Given the description of an element on the screen output the (x, y) to click on. 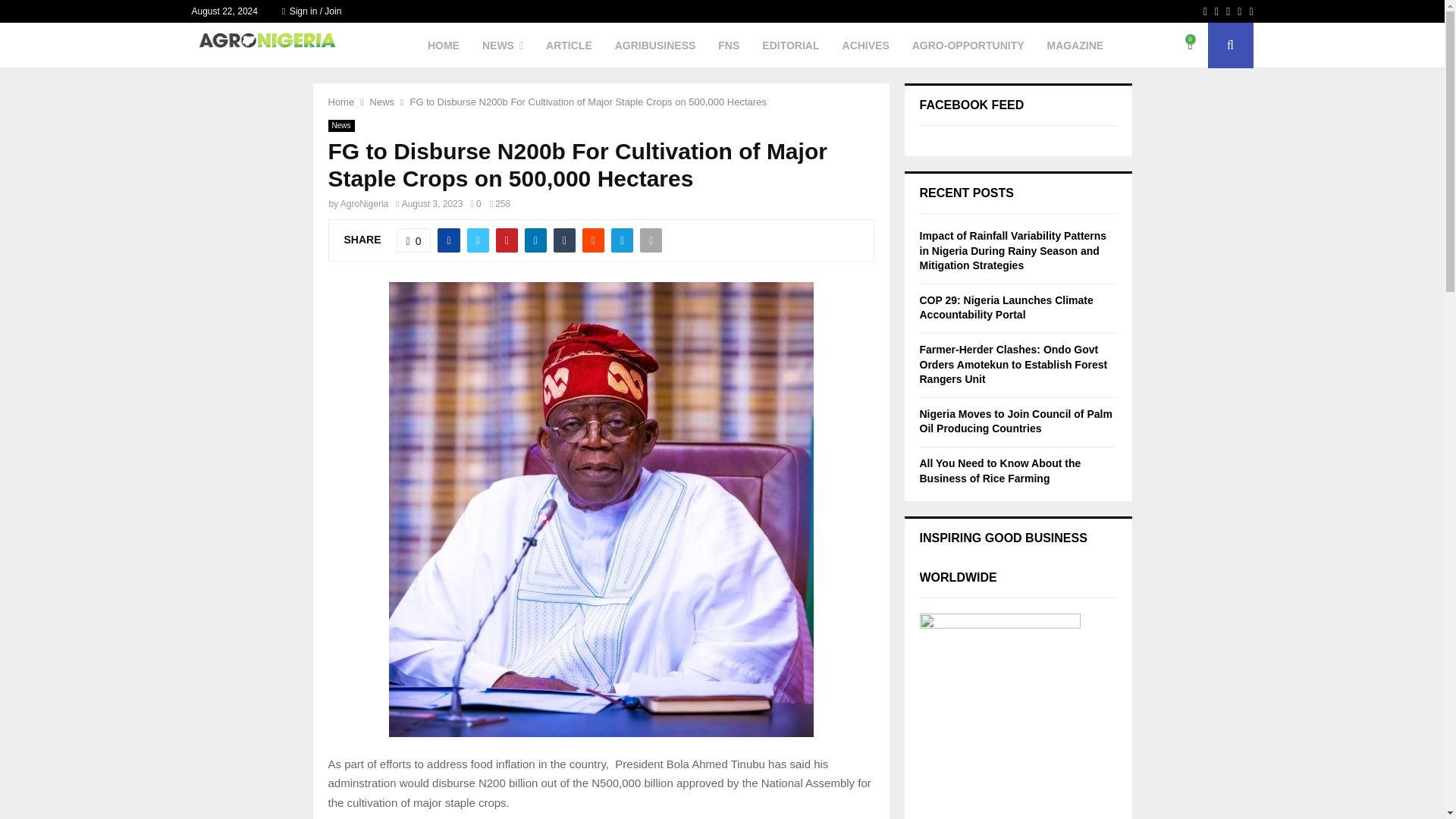
MAGAZINE (1074, 44)
Like (413, 240)
Sign up new account (722, 415)
News (340, 125)
ACHIVES (866, 44)
NEWS (501, 44)
Home (340, 101)
AgroNigeria (364, 204)
AGRIBUSINESS (654, 44)
